Given the description of an element on the screen output the (x, y) to click on. 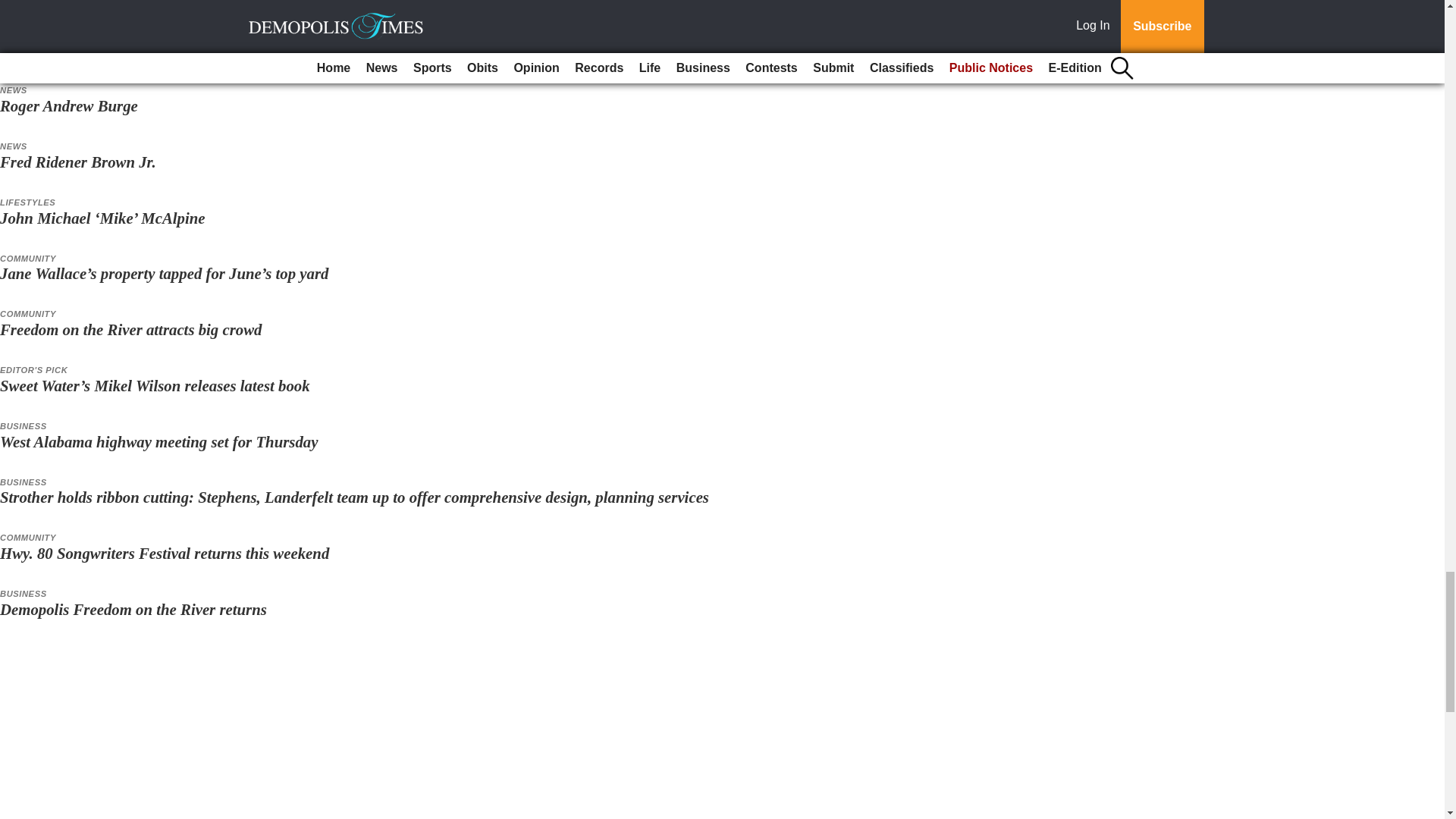
Ellen Byrd Burwell Rish (80, 1)
Freedom on the River attracts big crowd (131, 329)
Johnie Ray Brock (58, 49)
Fred Ridener Brown Jr. (77, 161)
